Given the description of an element on the screen output the (x, y) to click on. 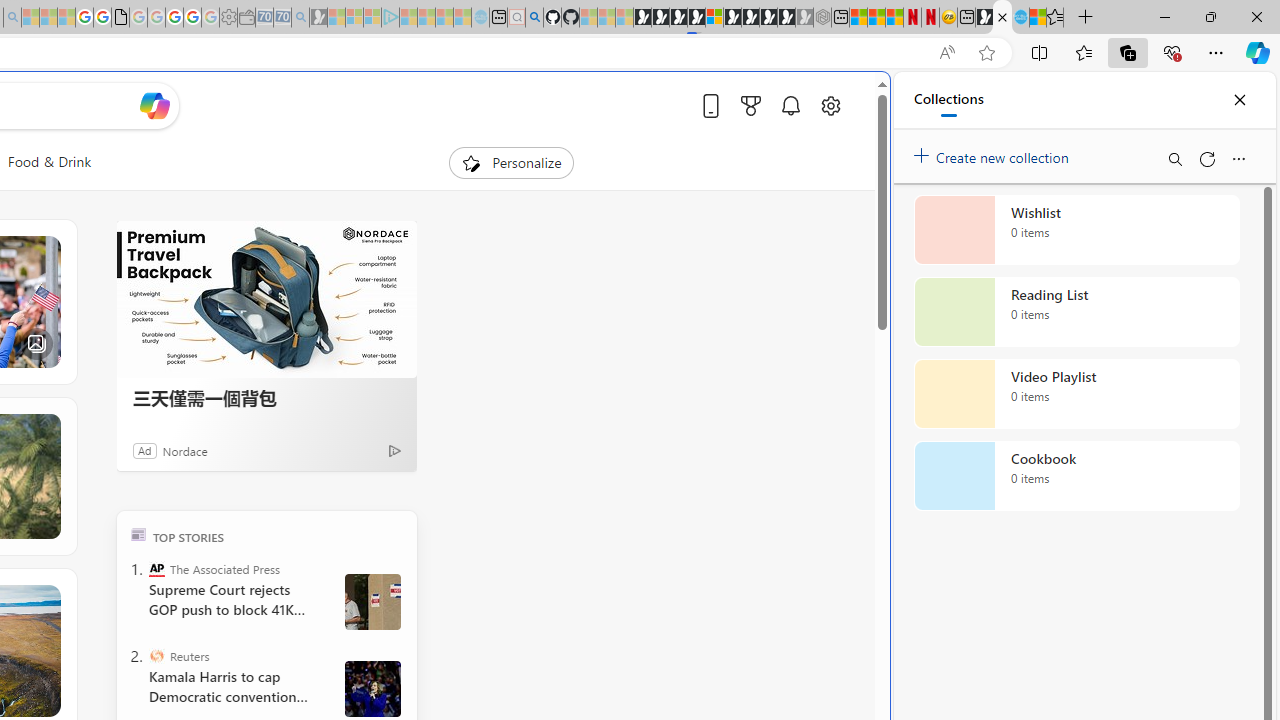
More options menu (1238, 158)
Reuters (156, 655)
Close split screen (844, 102)
